Given the description of an element on the screen output the (x, y) to click on. 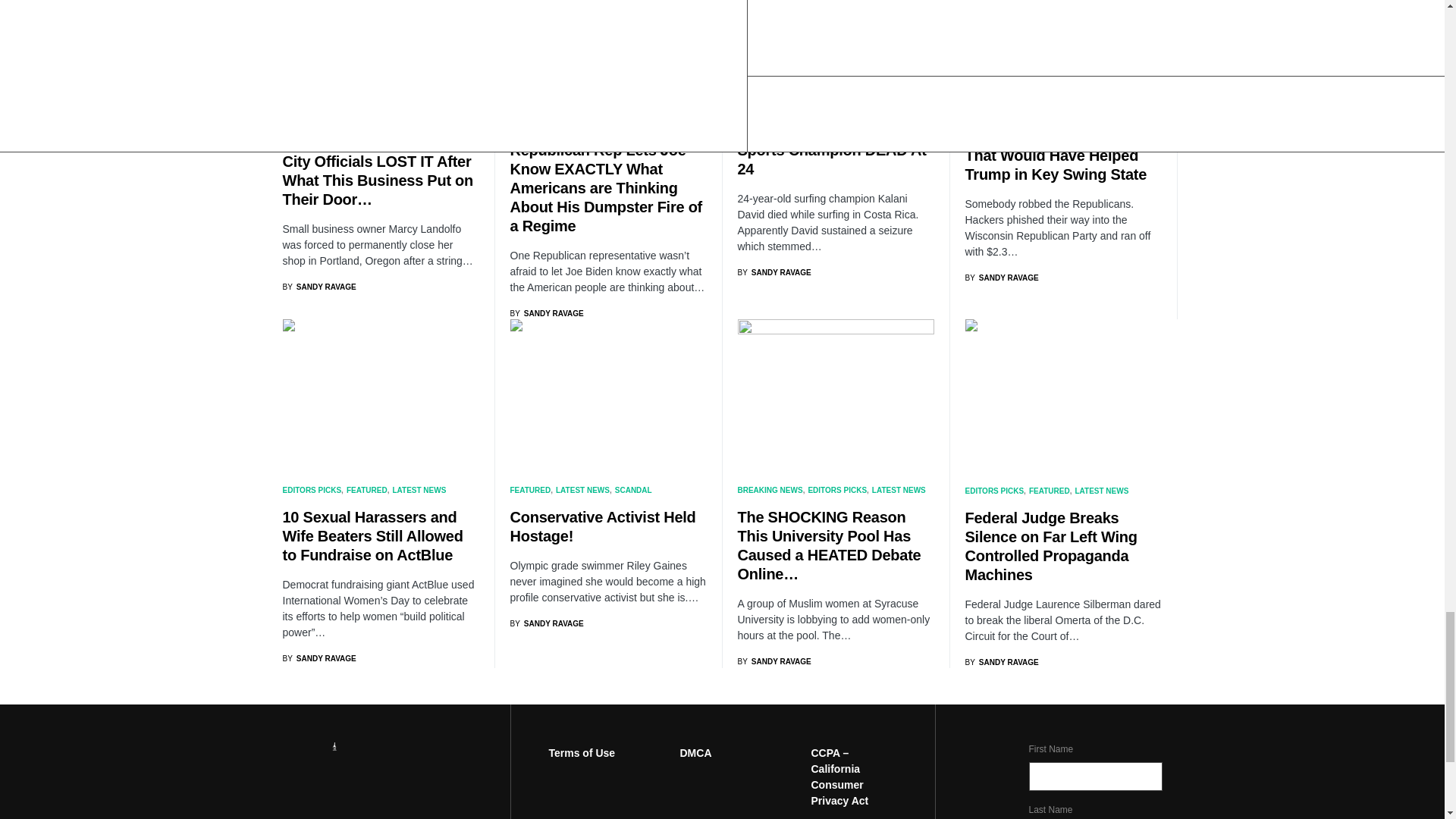
View all posts by Sandy Ravage (546, 623)
View all posts by Sandy Ravage (773, 661)
View all posts by Sandy Ravage (318, 286)
View all posts by Sandy Ravage (773, 272)
View all posts by Sandy Ravage (1000, 277)
View all posts by Sandy Ravage (1000, 662)
View all posts by Sandy Ravage (318, 658)
View all posts by Sandy Ravage (546, 313)
